Given the description of an element on the screen output the (x, y) to click on. 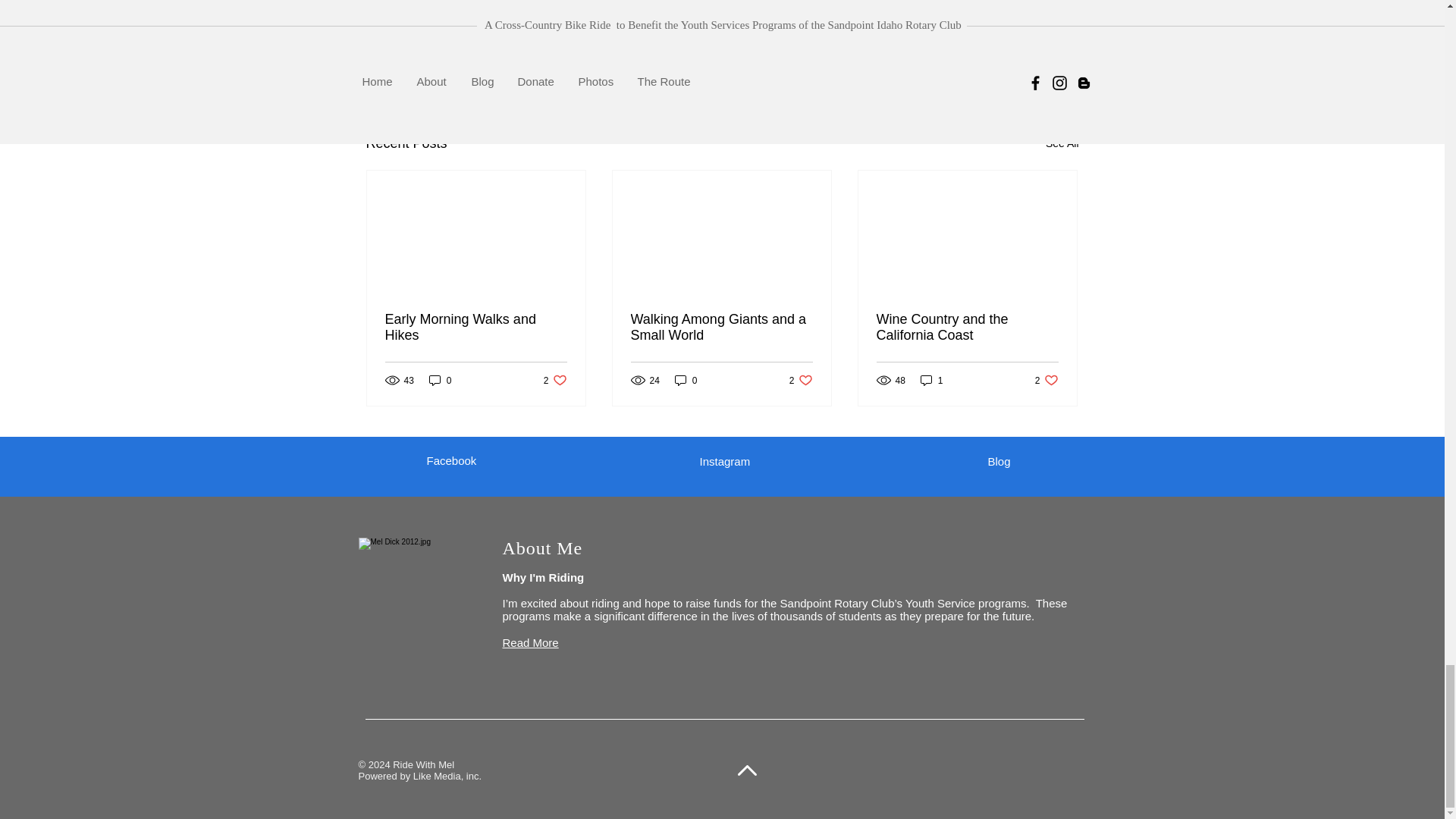
Walking Among Giants and a Small World (721, 327)
Read More (555, 380)
1 (529, 642)
0 (931, 380)
Like Media, inc. (685, 380)
Instagram (800, 380)
Blog (447, 776)
Early Morning Walks and Hikes (723, 461)
